Given the description of an element on the screen output the (x, y) to click on. 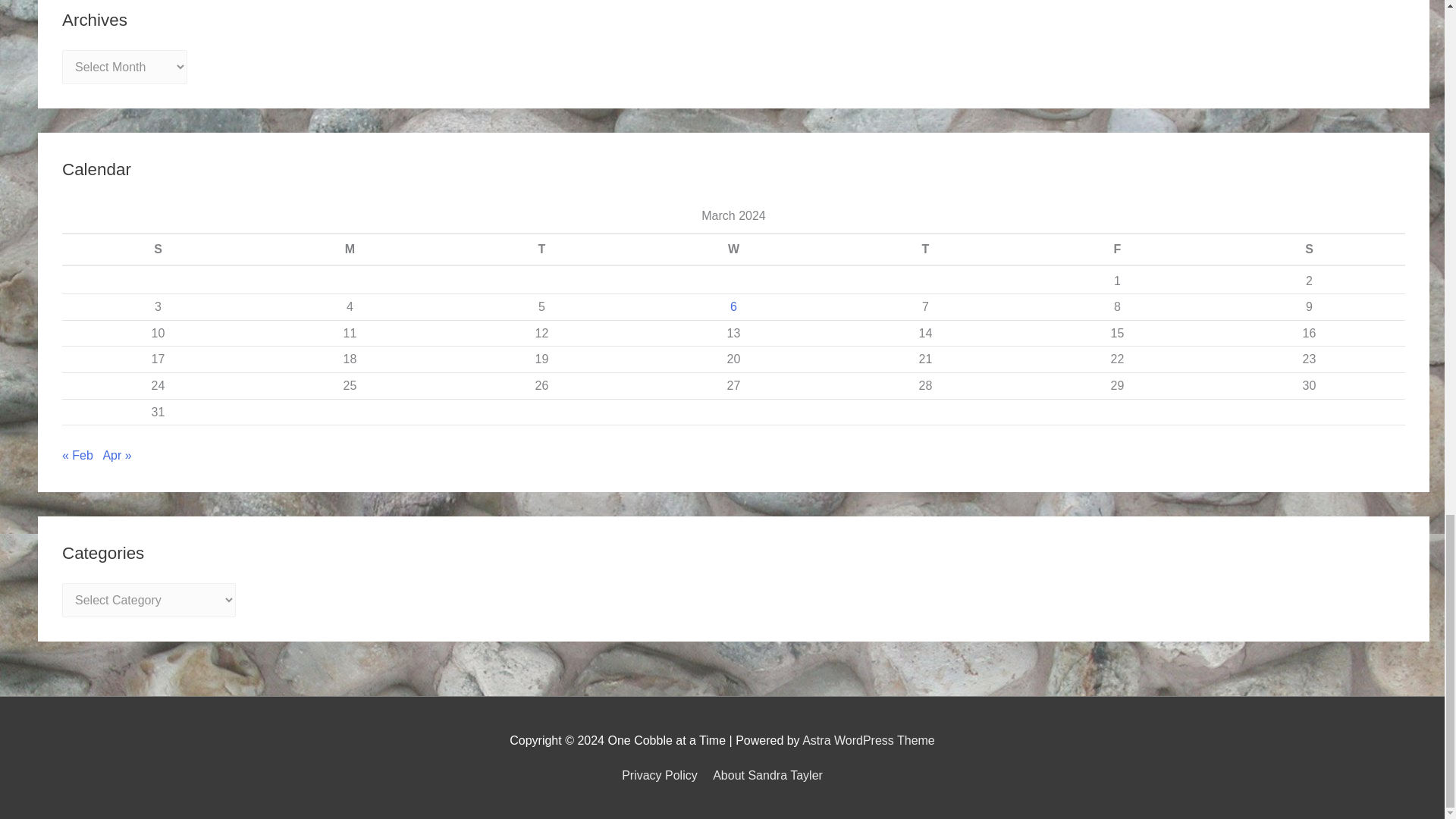
Tuesday (541, 249)
About Sandra Tayler (764, 775)
Astra WordPress Theme (868, 739)
Saturday (1308, 249)
Friday (1117, 249)
Monday (349, 249)
Thursday (925, 249)
Privacy Policy (662, 775)
Wednesday (733, 249)
Sunday (157, 249)
